Given the description of an element on the screen output the (x, y) to click on. 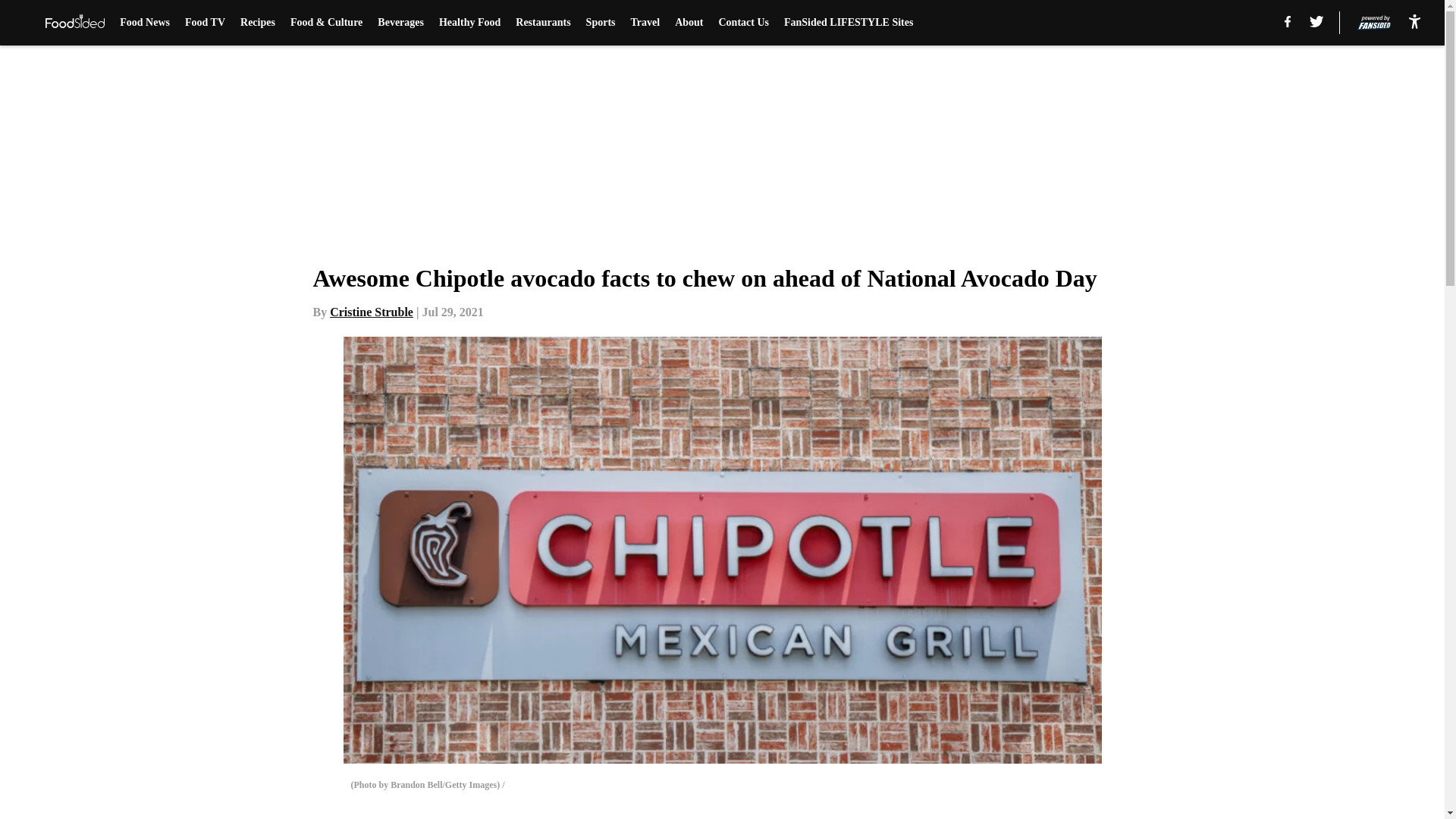
Sports (600, 22)
Restaurants (542, 22)
Contact Us (744, 22)
About (689, 22)
FanSided LIFESTYLE Sites (848, 22)
Travel (645, 22)
Beverages (400, 22)
Recipes (257, 22)
Food News (144, 22)
Cristine Struble (371, 311)
